Given the description of an element on the screen output the (x, y) to click on. 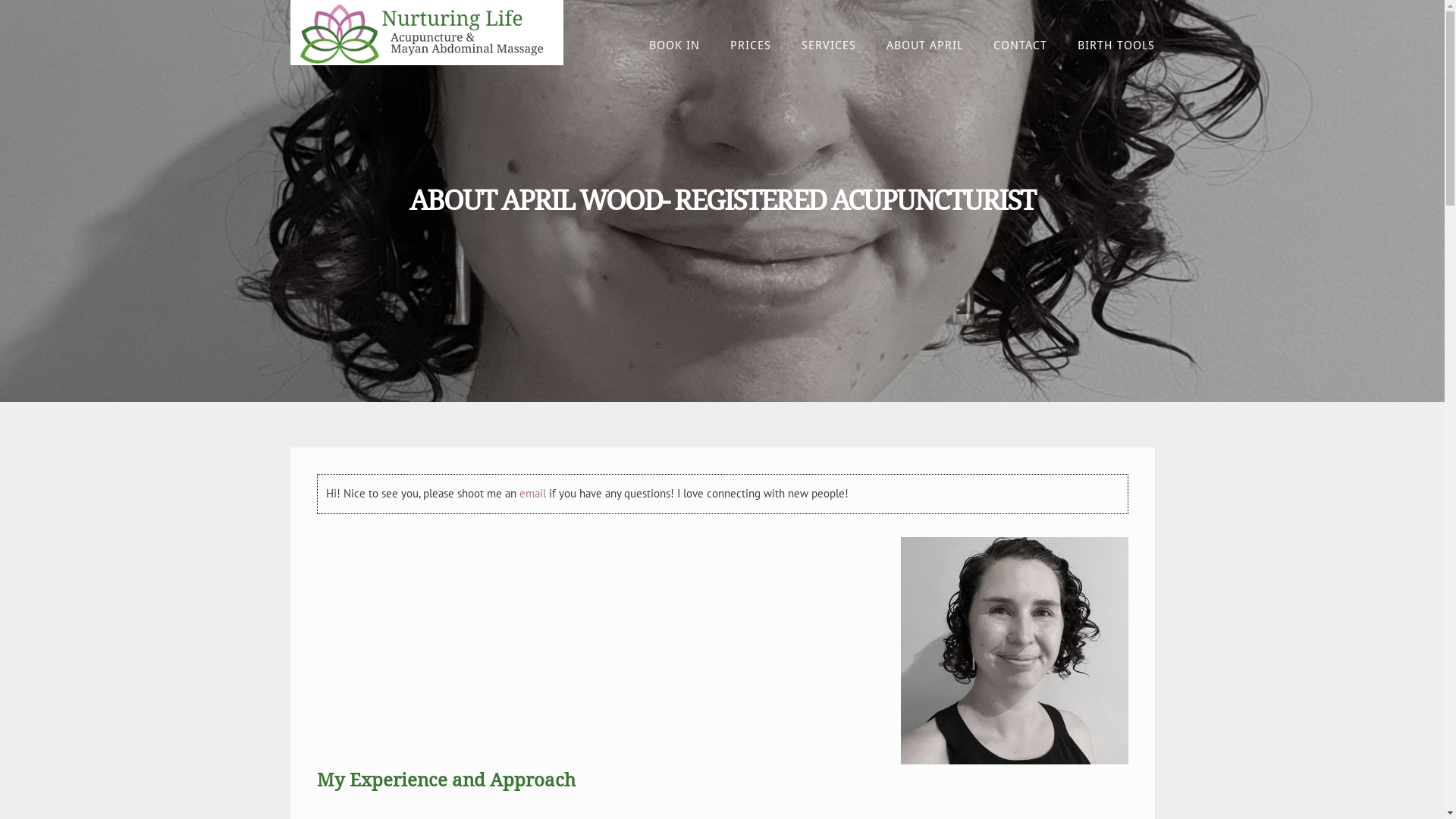
CONTACT Element type: text (1020, 45)
PRICES Element type: text (749, 45)
ABOUT APRIL Element type: text (923, 45)
BIRTH TOOLS Element type: text (1107, 45)
SERVICES Element type: text (827, 45)
BOOK IN Element type: text (674, 45)
email Element type: text (532, 493)
